Given the description of an element on the screen output the (x, y) to click on. 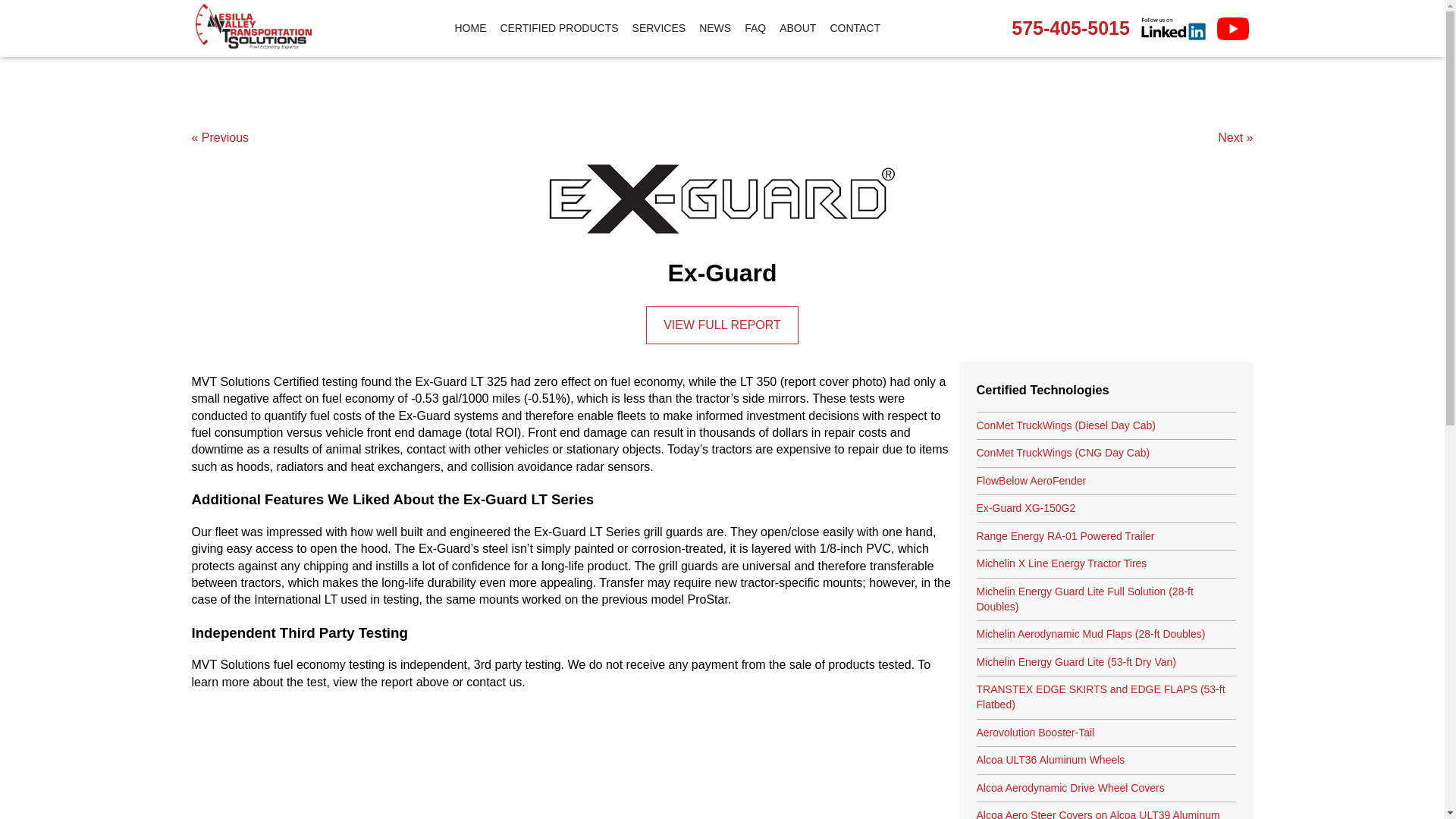
CERTIFIED PRODUCTS (558, 28)
Ex-Guard XG-150G2 (1106, 509)
SERVICES (659, 28)
NEWS (715, 28)
VIEW FULL REPORT (721, 324)
FlowBelow AeroFender (1106, 481)
Range Energy RA-01 Powered Trailer (1106, 537)
CONTACT (854, 28)
HOME (469, 28)
ABOUT (797, 28)
